Given the description of an element on the screen output the (x, y) to click on. 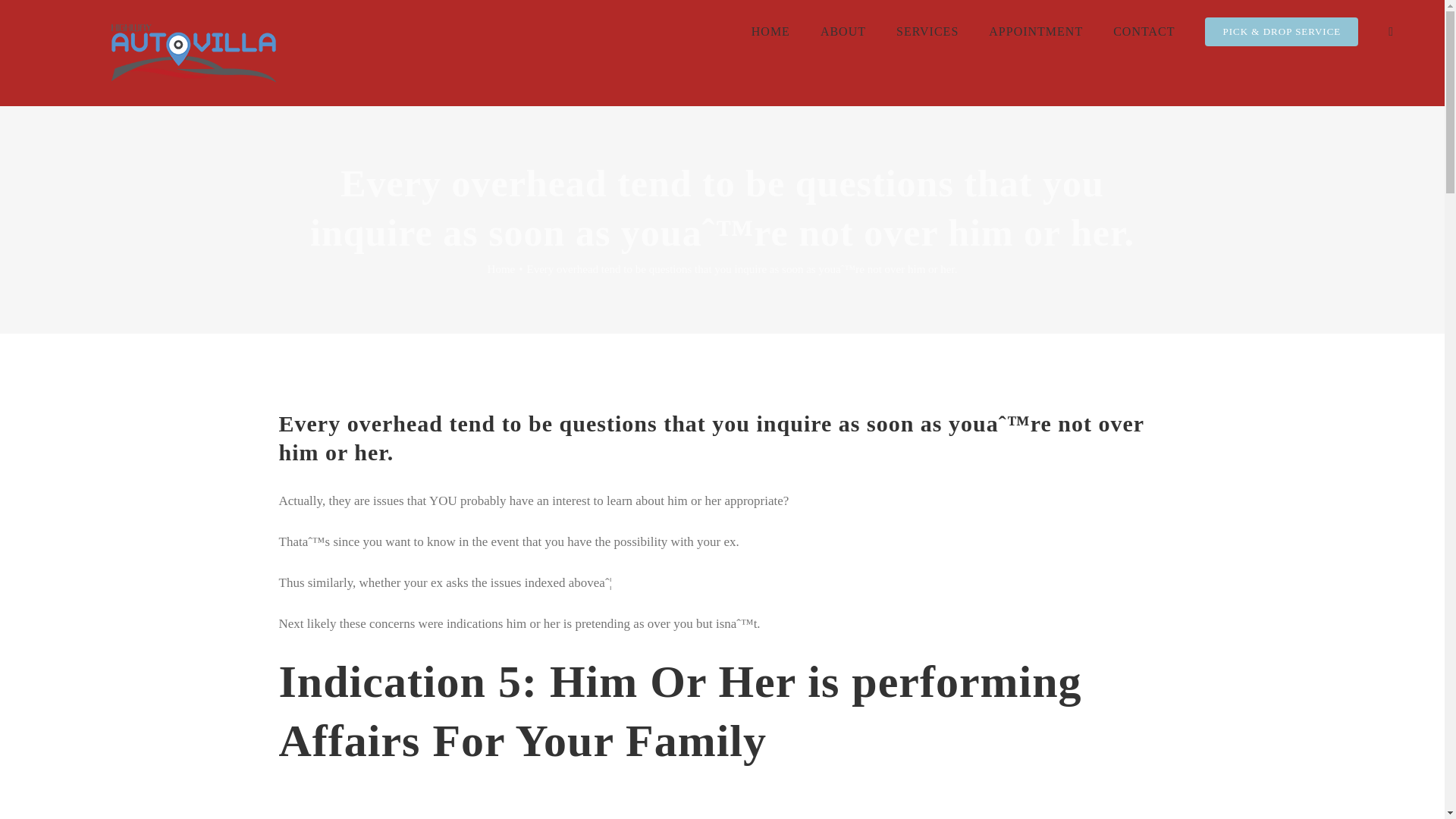
ABOUT (843, 31)
HOME (770, 31)
CONTACT (1143, 31)
SERVICES (927, 31)
APPOINTMENT (1035, 31)
Home (501, 268)
